Given the description of an element on the screen output the (x, y) to click on. 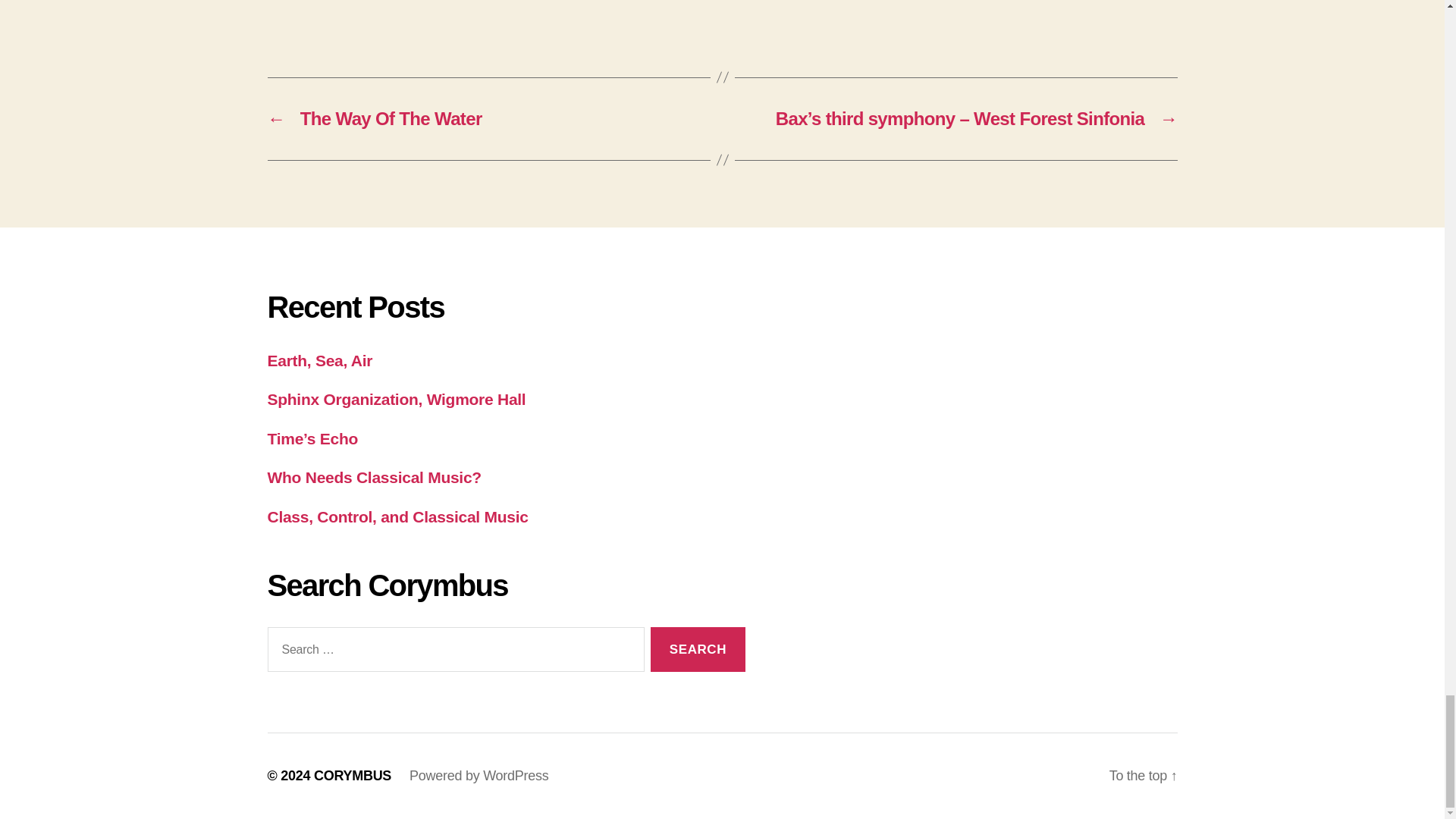
Search (697, 649)
Class, Control, and Classical Music (396, 516)
Search (697, 649)
Search (697, 649)
Who Needs Classical Music? (373, 477)
Sphinx Organization, Wigmore Hall (395, 398)
Earth, Sea, Air (319, 360)
Powered by WordPress (478, 775)
CORYMBUS (352, 775)
